Given the description of an element on the screen output the (x, y) to click on. 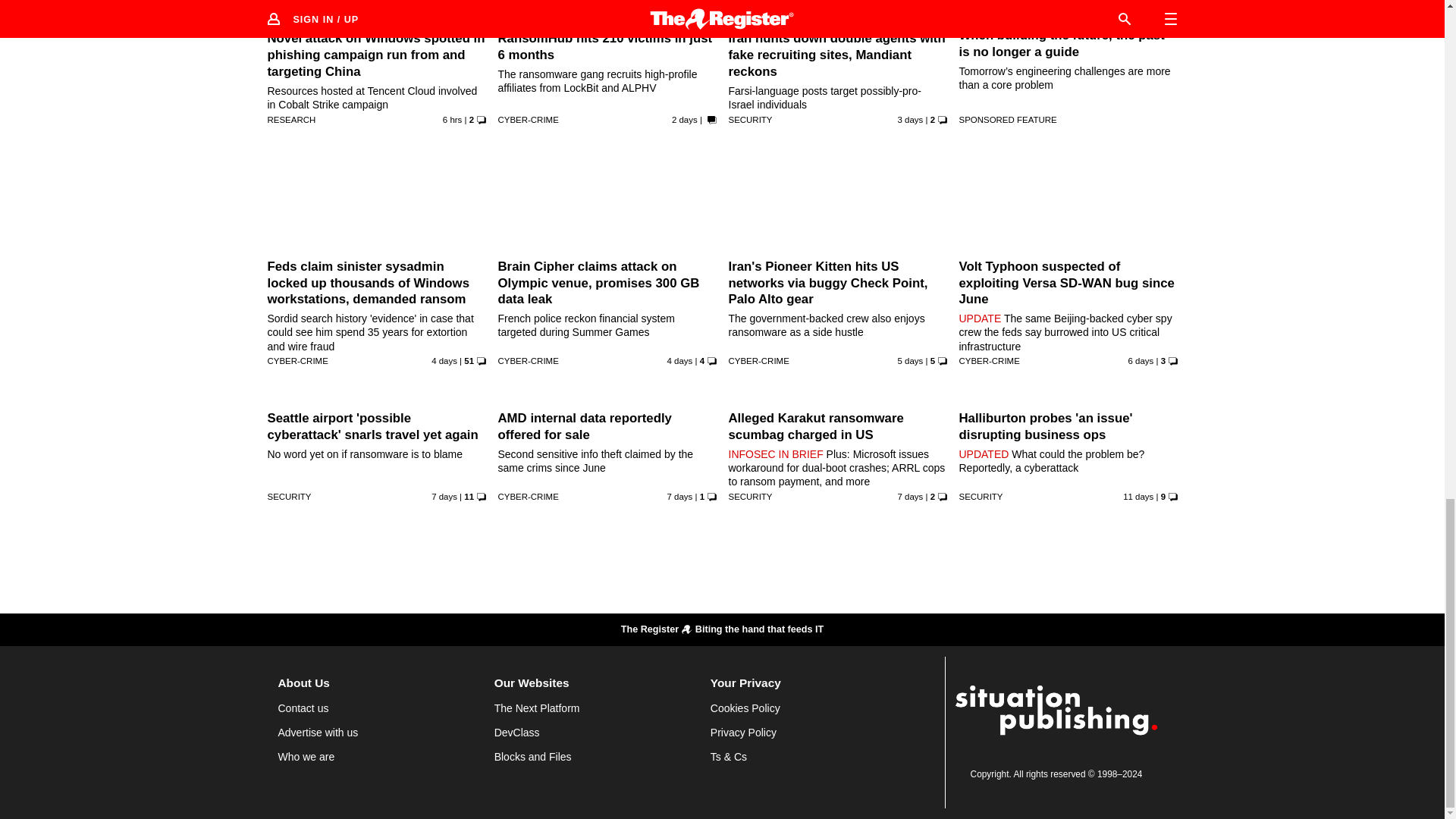
26 Aug 2024 18:30 (443, 496)
30 Aug 2024 23:55 (684, 119)
27 Aug 2024 17:32 (1141, 360)
26 Aug 2024 16:45 (679, 496)
29 Aug 2024 18:30 (443, 360)
28 Aug 2024 18:0 (910, 360)
30 Aug 2024 4:27 (910, 119)
29 Aug 2024 12:32 (679, 360)
2 Sep 2024 3:6 (452, 119)
